Given the description of an element on the screen output the (x, y) to click on. 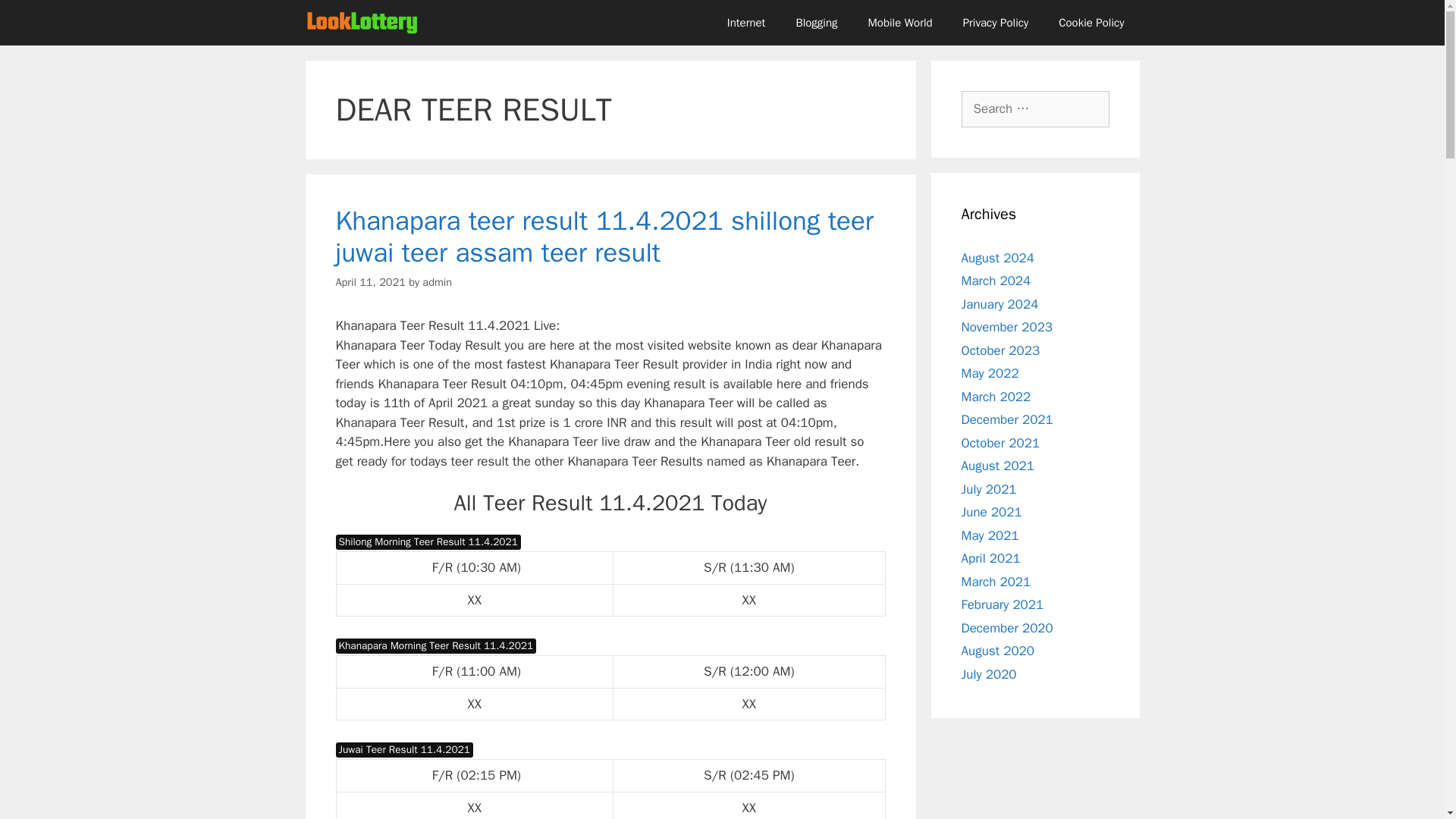
August 2021 (996, 465)
October 2021 (1000, 442)
April 2021 (990, 558)
Blogging (815, 22)
October 2023 (1000, 350)
Privacy Policy (995, 22)
February 2021 (1001, 604)
November 2023 (1006, 326)
December 2021 (1006, 419)
July 2021 (988, 488)
